Given the description of an element on the screen output the (x, y) to click on. 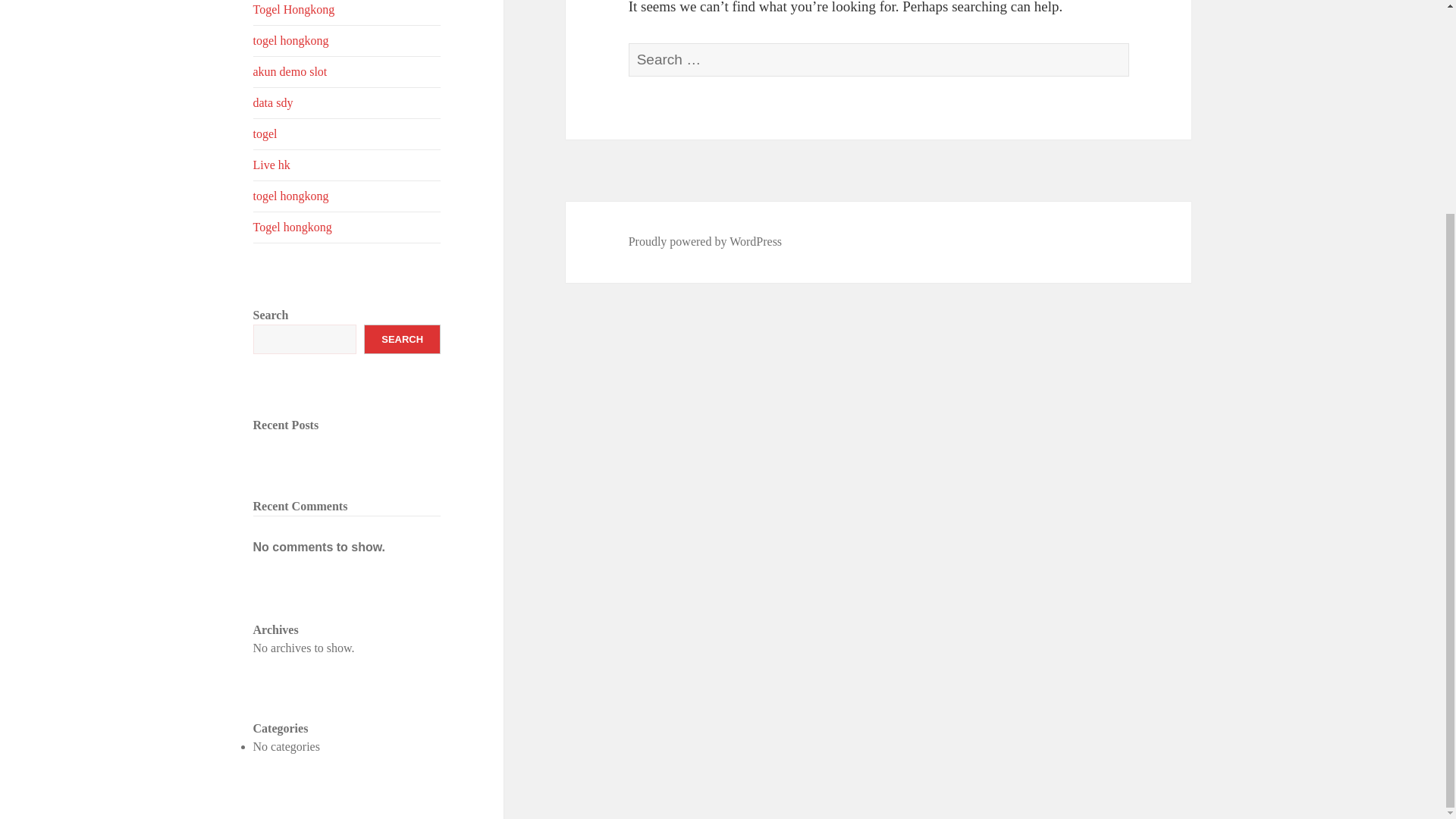
Togel hongkong (347, 227)
Togel Hongkong (347, 12)
togel hongkong (347, 40)
SEARCH (402, 338)
togel (347, 133)
data sdy (347, 102)
akun demo slot (347, 71)
